Given the description of an element on the screen output the (x, y) to click on. 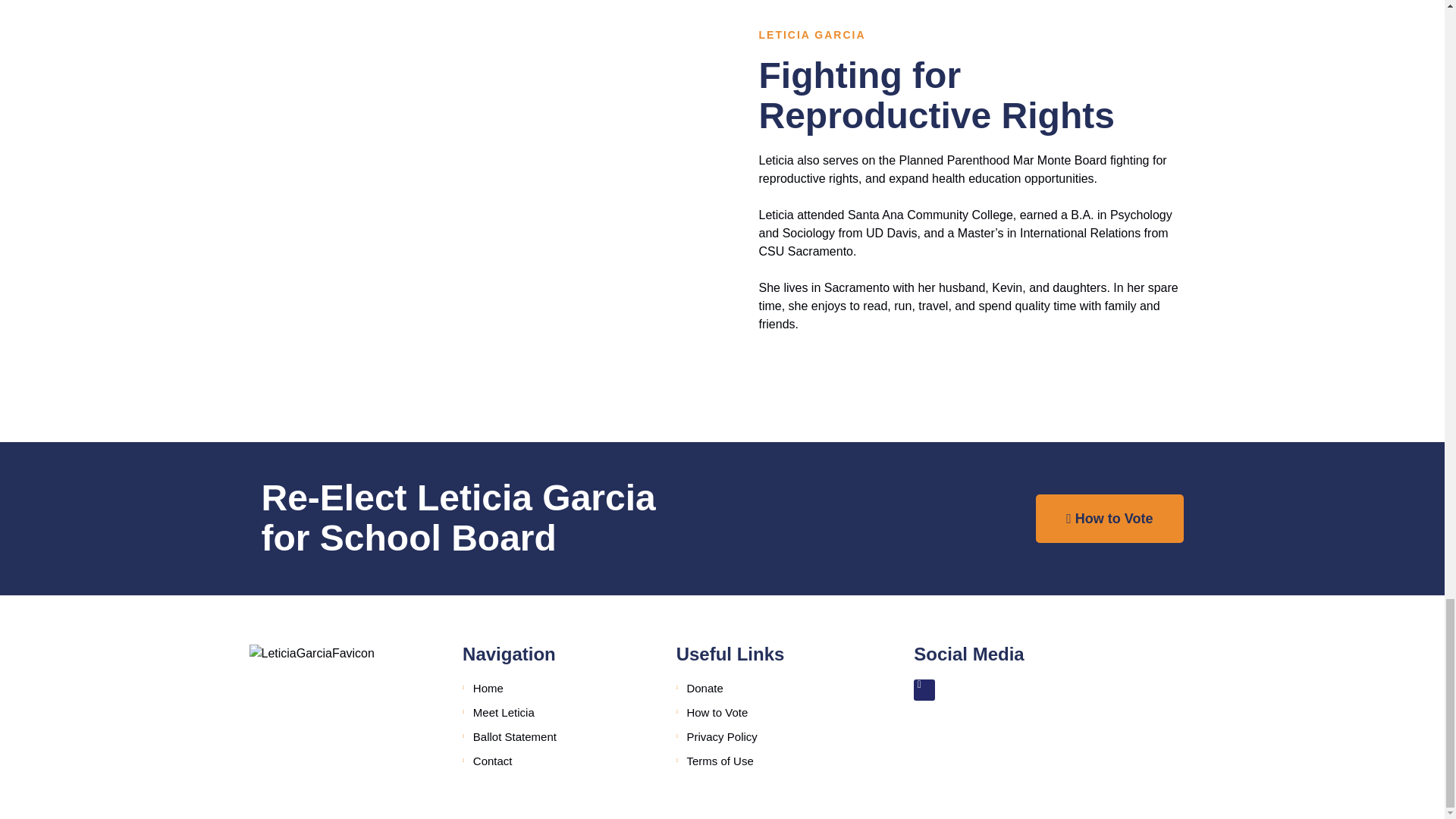
How to Vote (771, 712)
LeticiaGarciaFavicon (311, 653)
Donate (771, 688)
Meet Leticia (557, 712)
Home (557, 688)
Contact (557, 761)
Ballot Statement (557, 737)
Privacy Policy (771, 737)
Terms of Use (771, 761)
How to Vote (1108, 518)
